Given the description of an element on the screen output the (x, y) to click on. 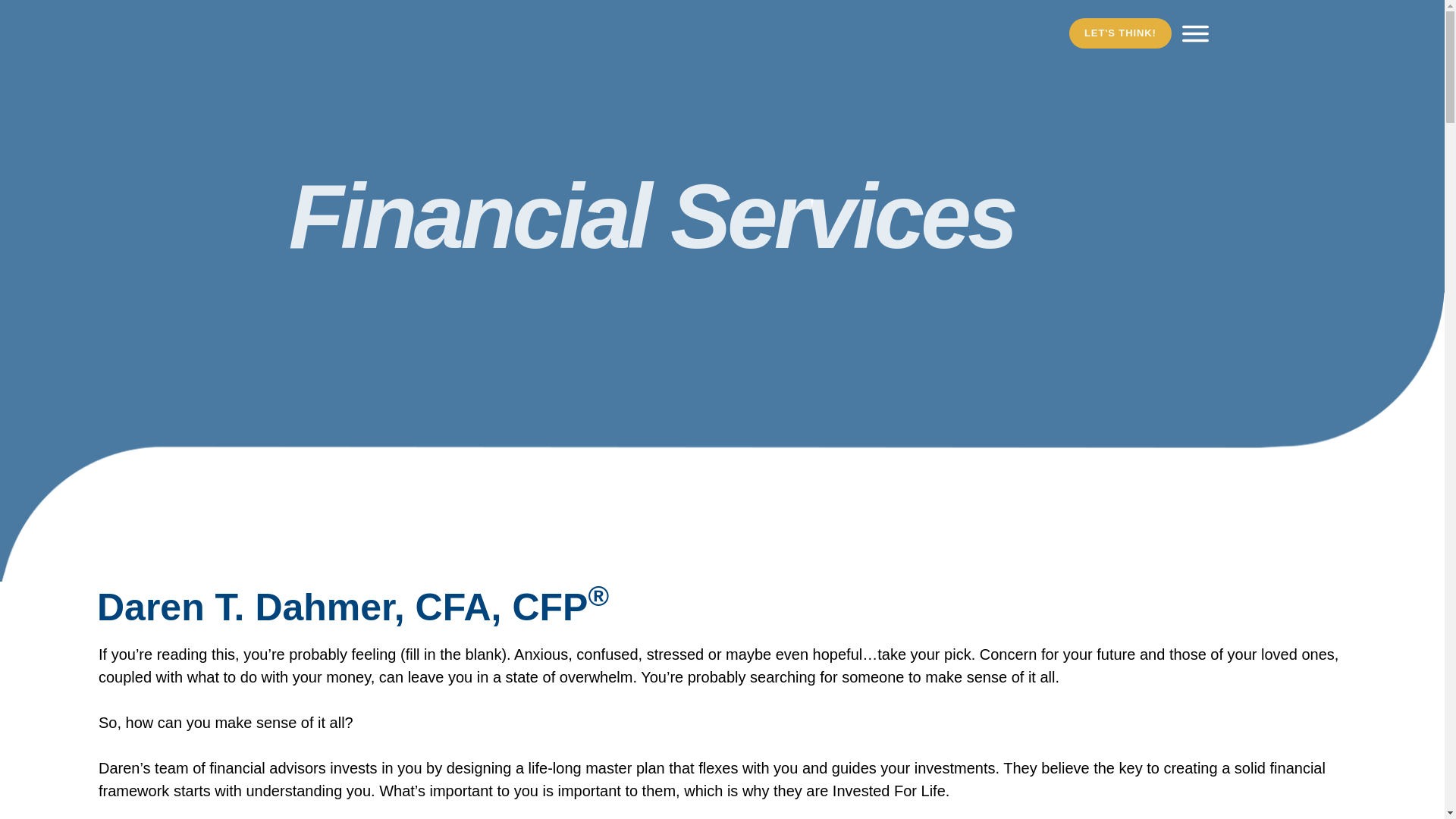
LET'S THINK! (1120, 33)
